Given the description of an element on the screen output the (x, y) to click on. 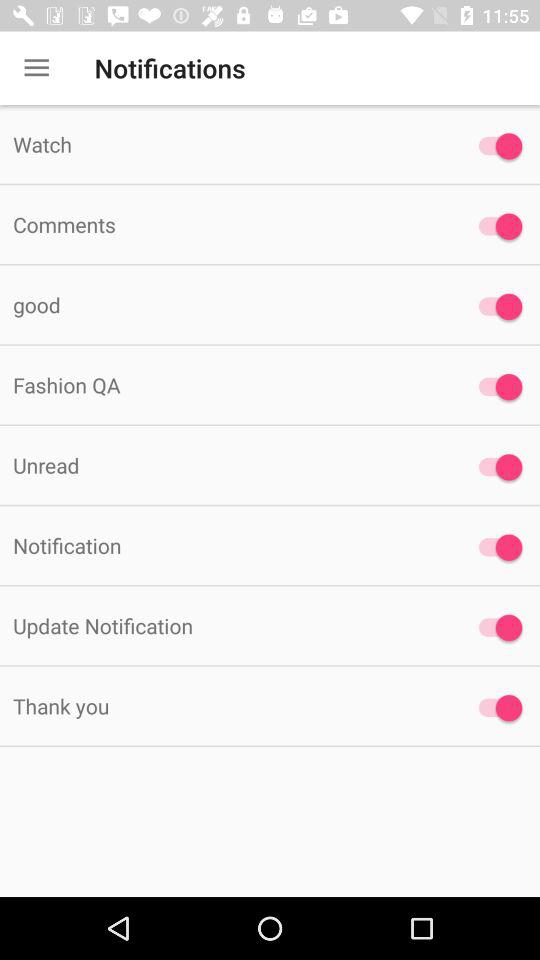
toggle notification option (495, 547)
